Given the description of an element on the screen output the (x, y) to click on. 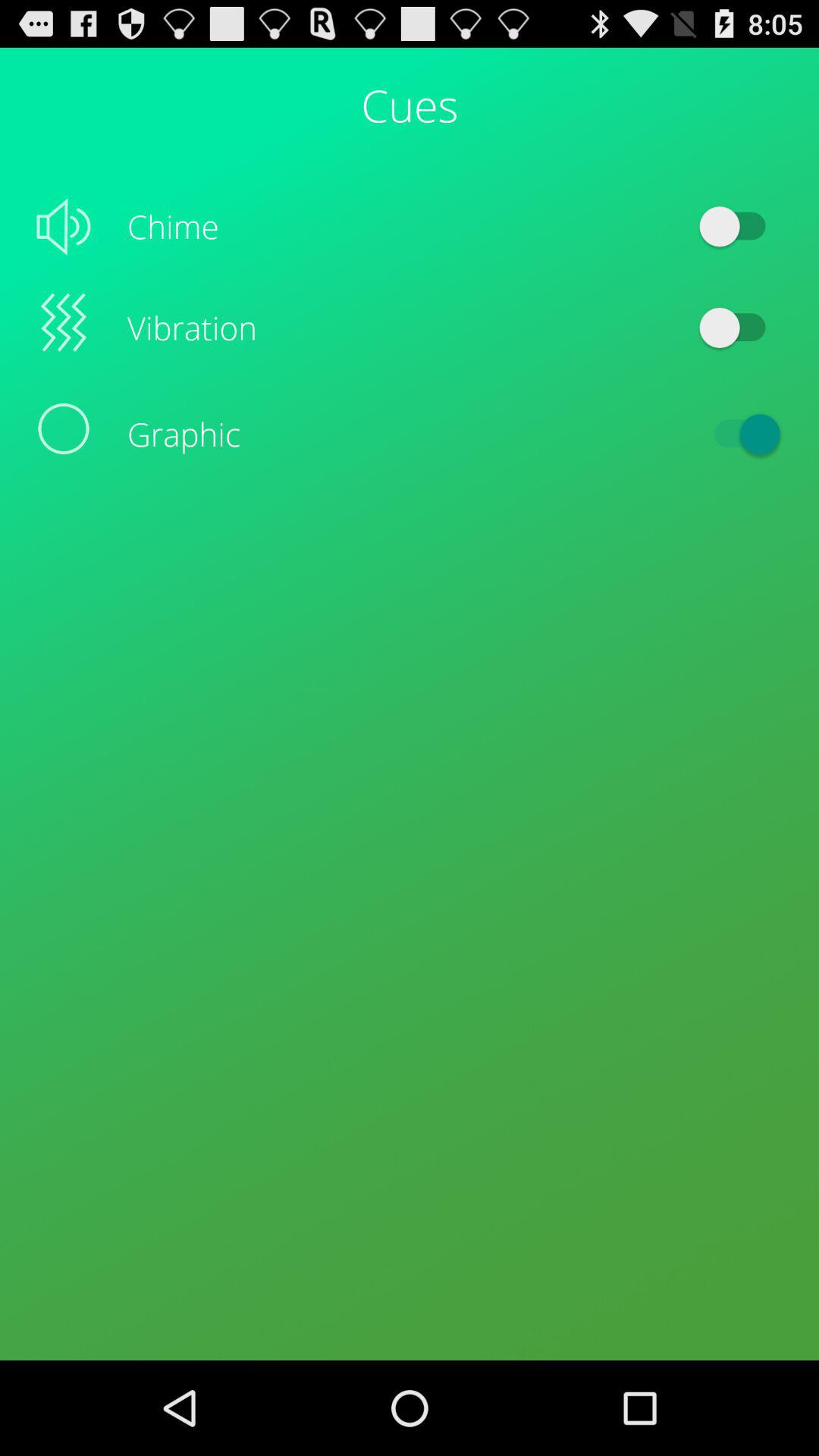
turn on the item to the right of the vibration item (739, 327)
